Given the description of an element on the screen output the (x, y) to click on. 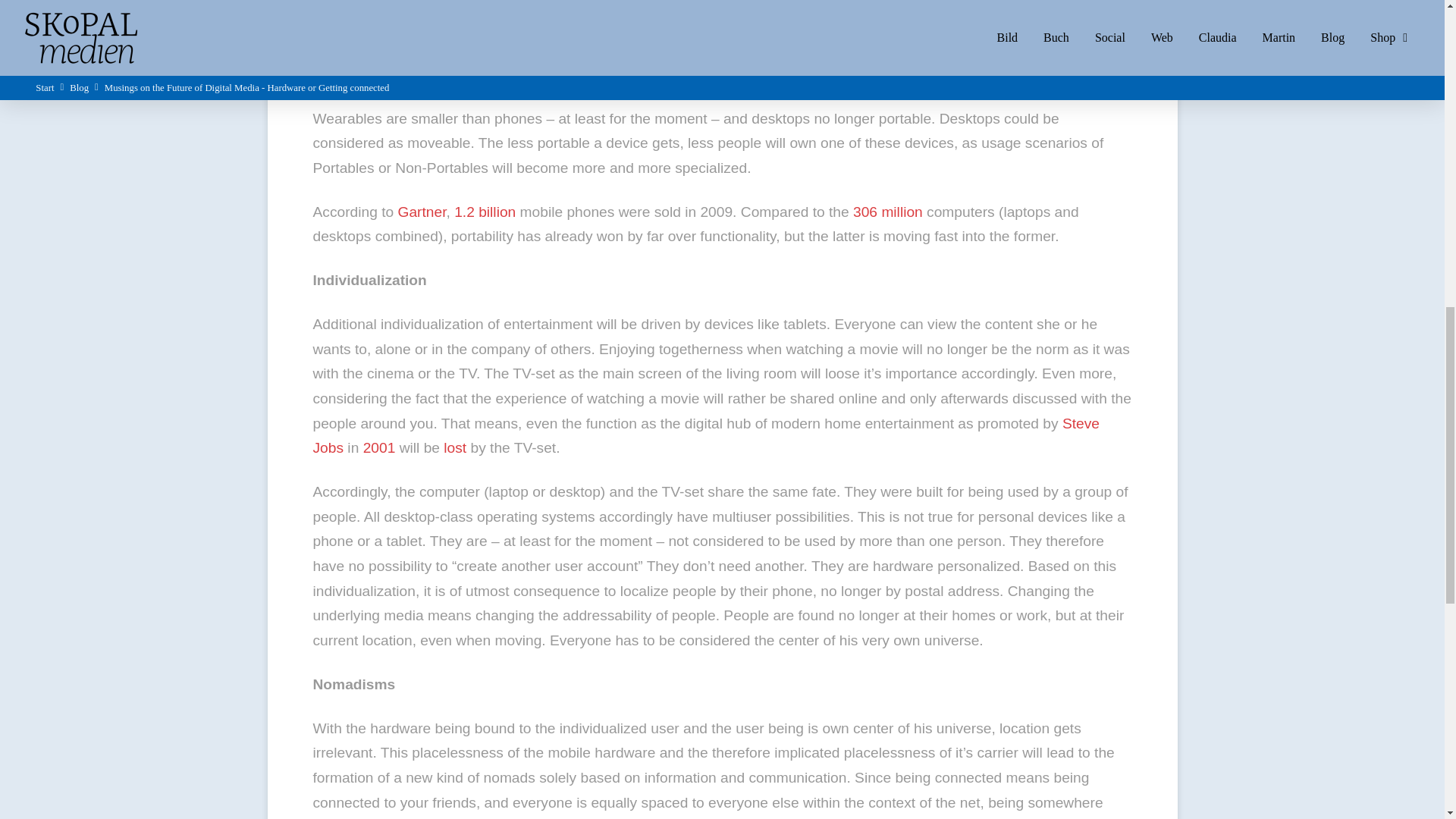
1.2 billion (484, 211)
Steve Jobs (706, 435)
lost (454, 447)
Gartner (421, 211)
Steve Jobs (706, 435)
Gartner (421, 211)
306 million (888, 211)
2001 (379, 447)
